Given the description of an element on the screen output the (x, y) to click on. 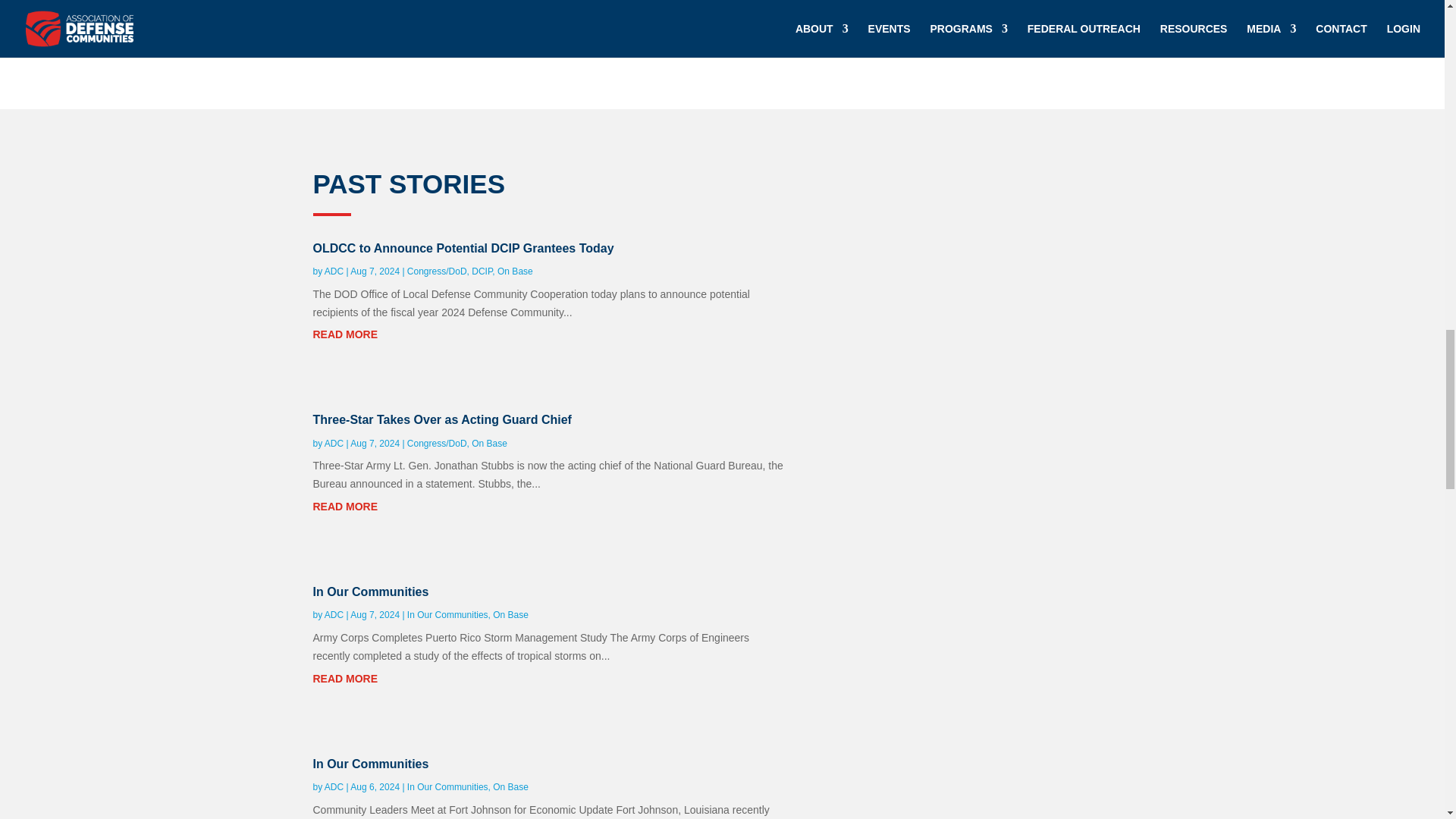
Posts by ADC (333, 271)
Posts by ADC (333, 614)
Posts by ADC (333, 787)
Posts by ADC (333, 443)
